Given the description of an element on the screen output the (x, y) to click on. 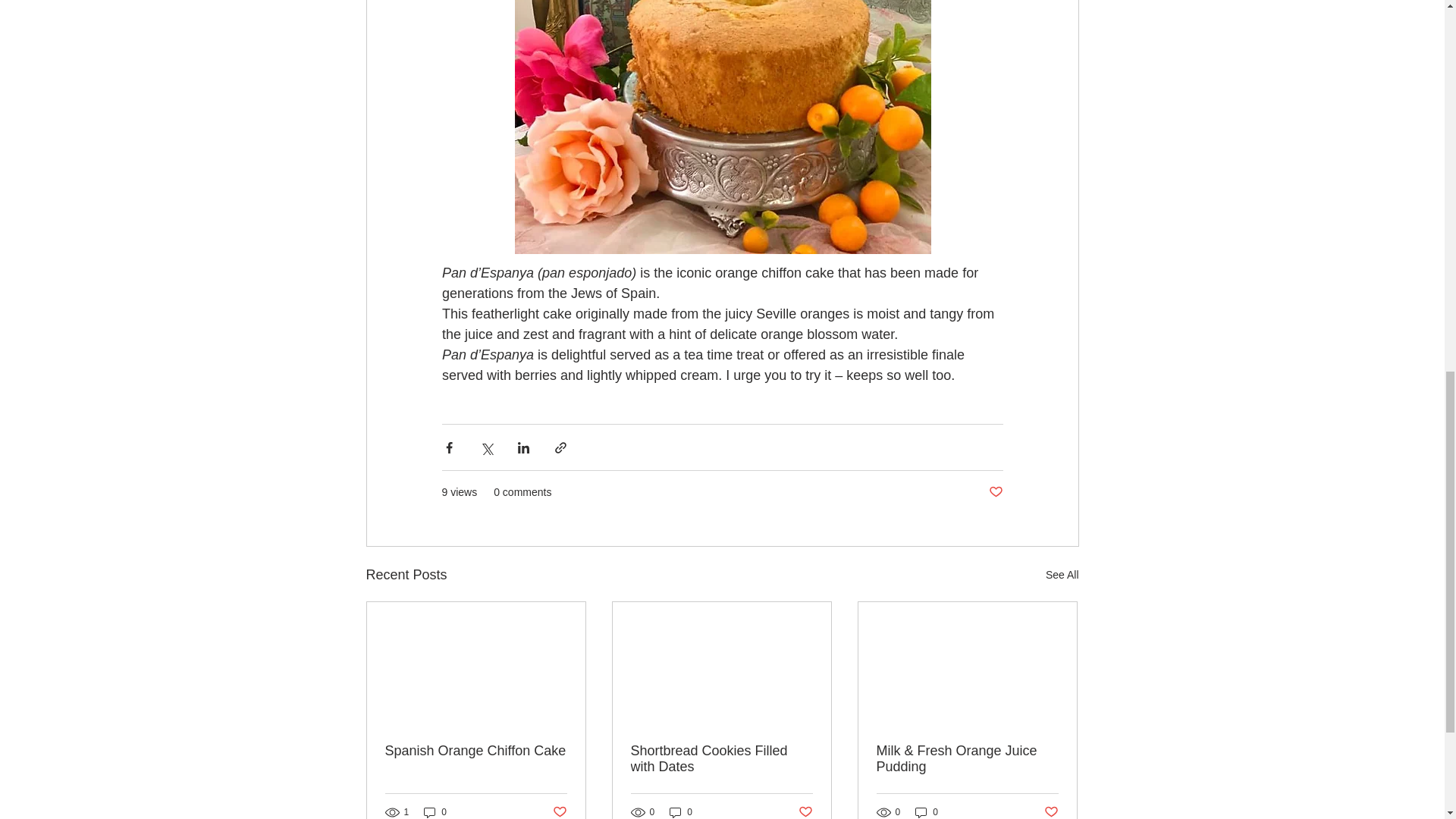
Spanish Orange Chiffon Cake (476, 750)
0 (435, 812)
Post not marked as liked (558, 811)
Post not marked as liked (995, 492)
See All (1061, 575)
